Given the description of an element on the screen output the (x, y) to click on. 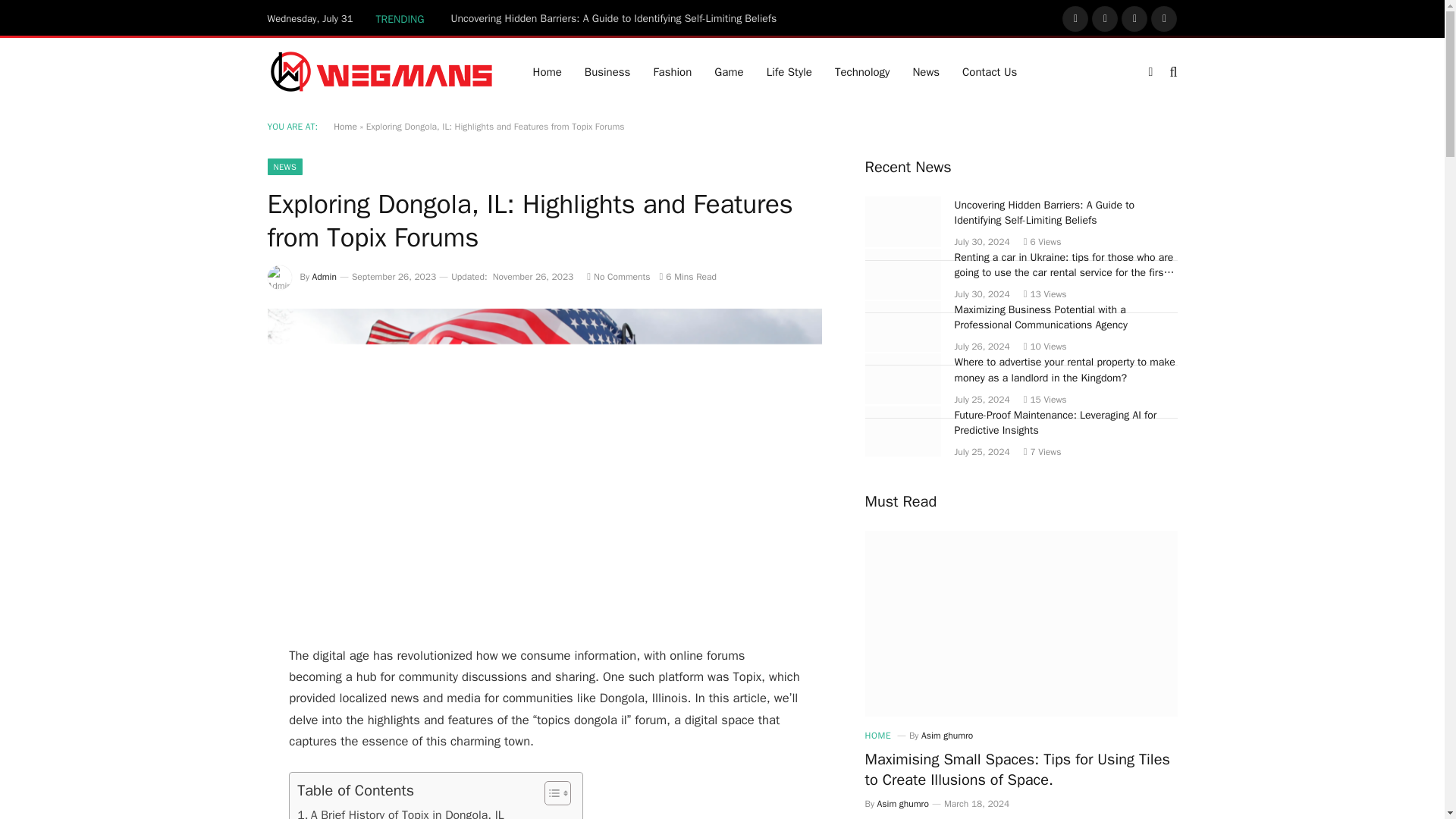
Technology (862, 71)
Switch to Dark Design - easier on eyes. (1149, 70)
No Comments (617, 276)
Fashion (672, 71)
Posts by Admin (324, 276)
NEWS (284, 166)
Admin (324, 276)
Home (344, 126)
A Brief History of Topix in Dongola, IL (400, 812)
Facebook (1074, 18)
Business (607, 71)
Contact Us (988, 71)
wegmans.co.uk (380, 71)
Pinterest (1163, 18)
